Given the description of an element on the screen output the (x, y) to click on. 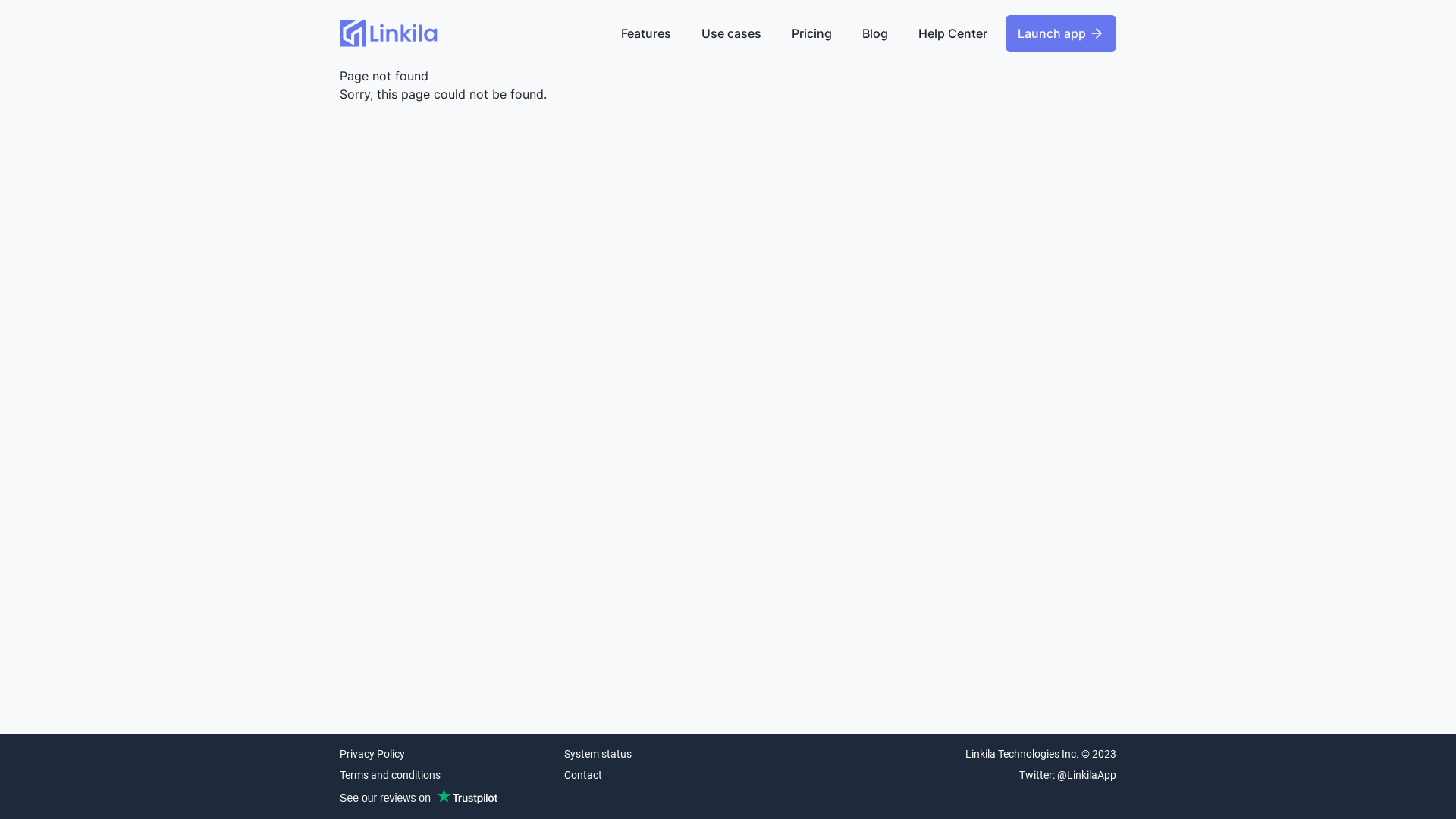
Privacy Policy Element type: text (421, 753)
Launch app Element type: text (1060, 33)
Pricing Element type: text (811, 33)
Help Center Element type: text (952, 33)
System status Element type: text (597, 753)
Features Element type: text (645, 33)
Blog Element type: text (875, 33)
Terms and conditions Element type: text (421, 774)
Contact Element type: text (597, 774)
Customer reviews powered by Trustpilot Element type: hover (418, 797)
@LinkilaApp Element type: text (1086, 774)
